Given the description of an element on the screen output the (x, y) to click on. 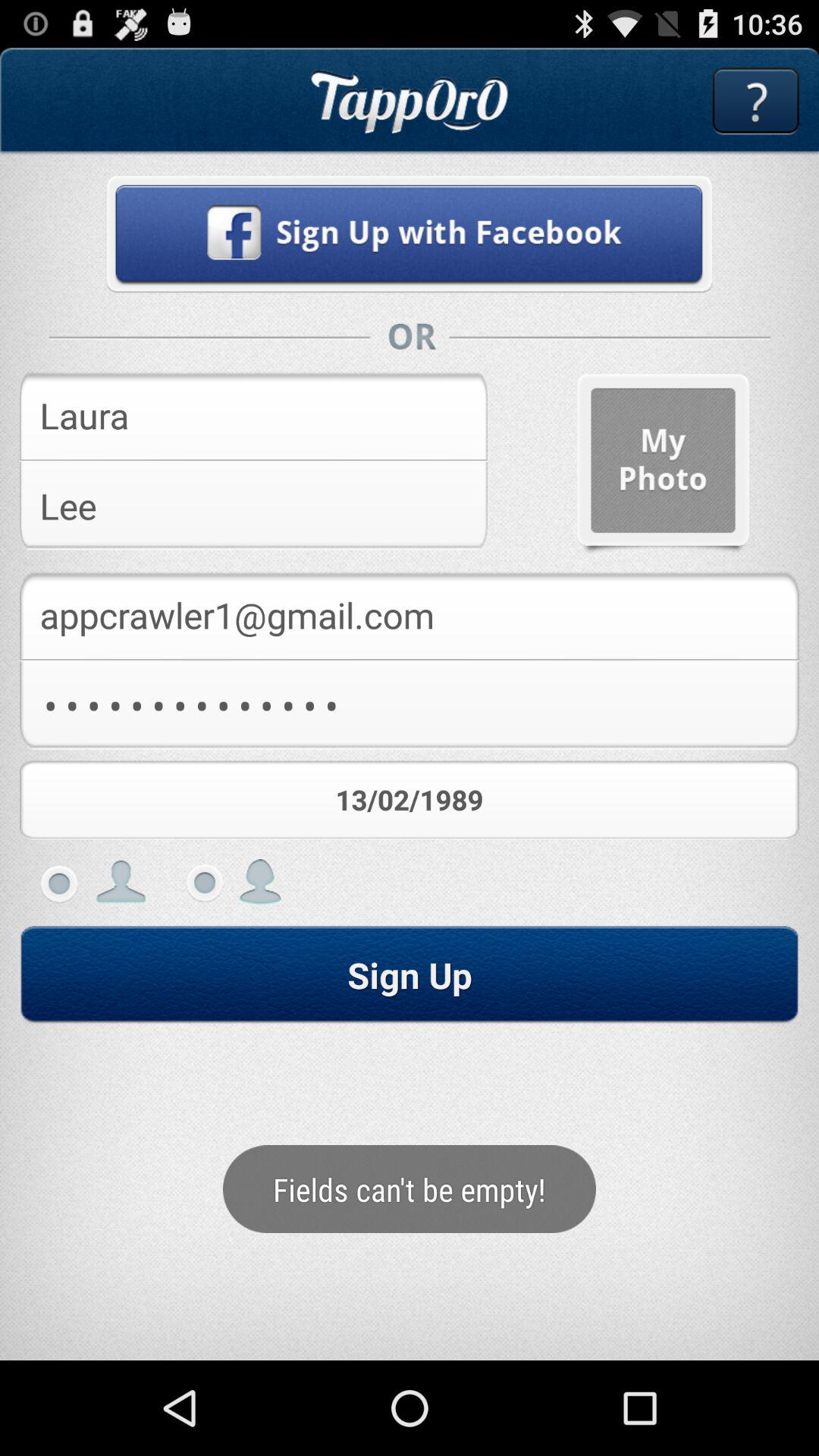
questions (755, 101)
